Given the description of an element on the screen output the (x, y) to click on. 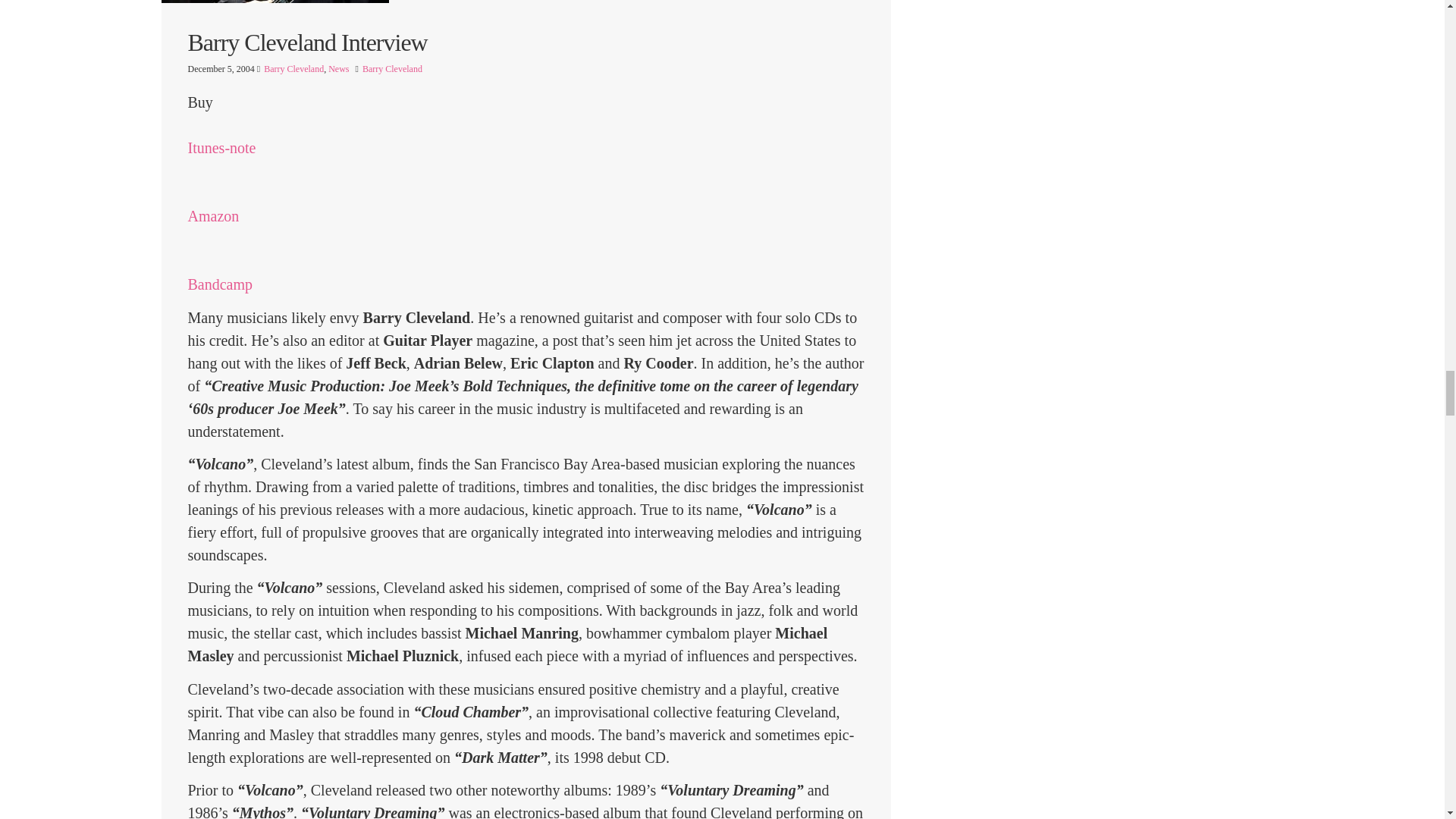
News (339, 68)
Barry Cleveland (392, 68)
December 5, 2004 (222, 68)
Bandcamp (220, 295)
Itunes-note (221, 159)
Barry Cleveland (293, 68)
Barry Cleveland Interview (525, 42)
Amazon (213, 227)
